Given the description of an element on the screen output the (x, y) to click on. 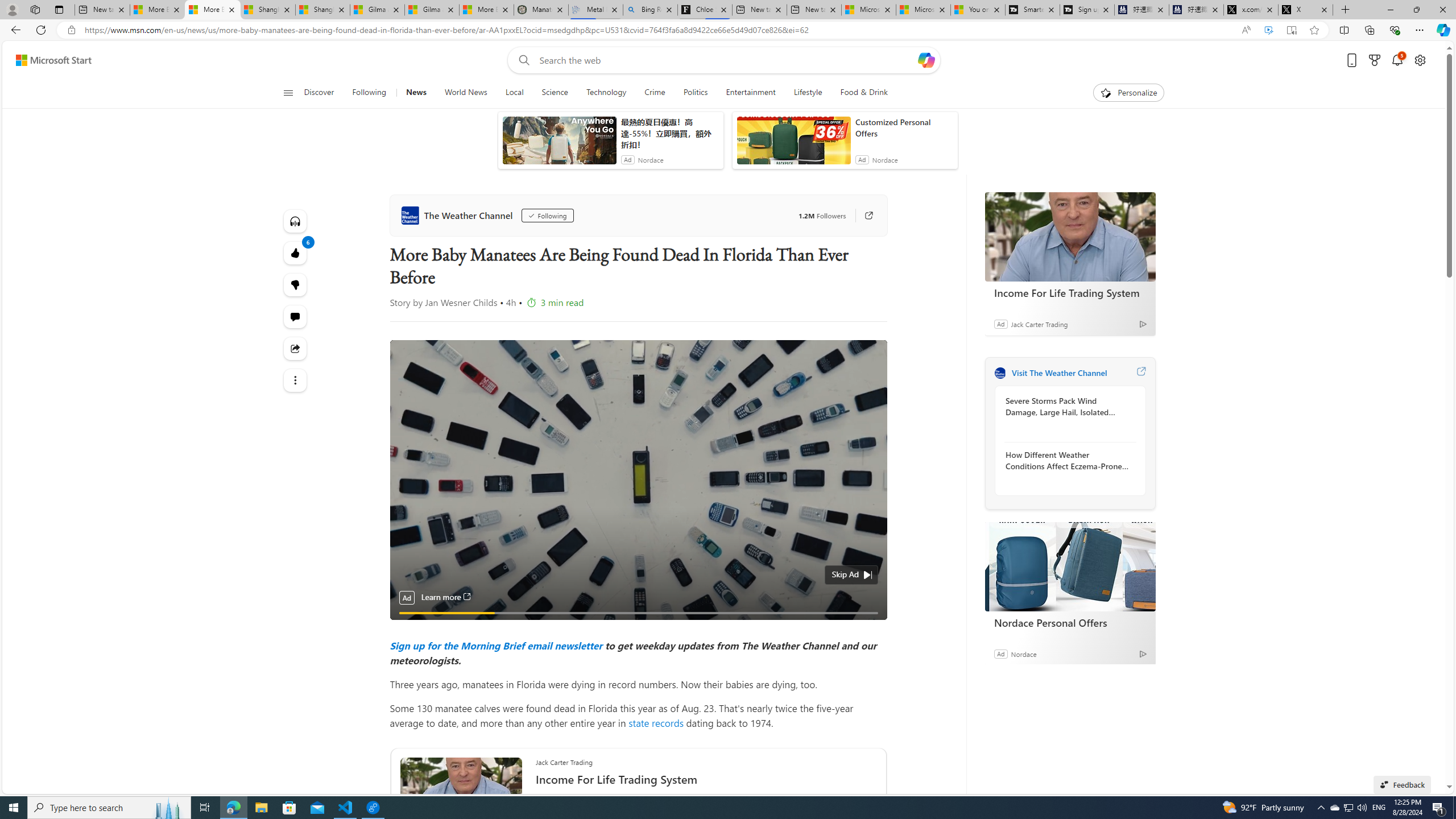
Science (554, 92)
Enhance video (1268, 29)
Open Copilot (925, 59)
Jack Carter Trading Income For Life Trading System (705, 776)
Address and search bar (658, 29)
Lifestyle (807, 92)
Discover (319, 92)
Chloe Sorvino (704, 9)
Following (547, 215)
Income For Life Trading System (1069, 292)
See more (295, 380)
See more (295, 380)
Feedback (1402, 784)
Enter Immersive Reader (F9) (1291, 29)
